Given the description of an element on the screen output the (x, y) to click on. 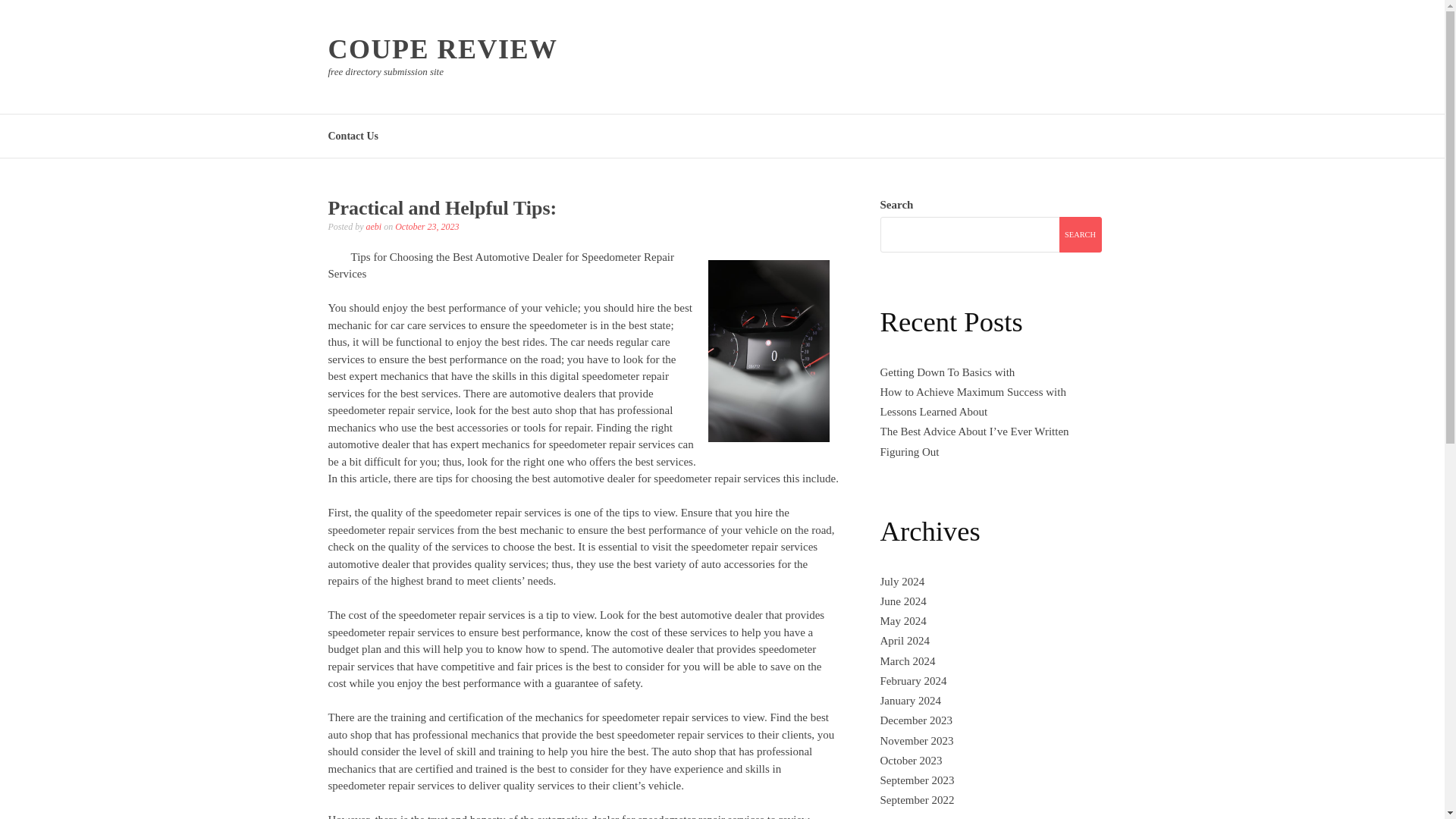
October 23, 2023 (426, 226)
May 2024 (902, 621)
November 2023 (916, 740)
COUPE REVIEW (442, 49)
September 2023 (916, 779)
Lessons Learned About (933, 411)
April 2024 (903, 640)
June 2024 (902, 601)
February 2024 (912, 680)
Contact Us (352, 135)
December 2023 (915, 720)
September 2022 (916, 799)
How to Achieve Maximum Success with (972, 391)
Getting Down To Basics with (946, 372)
October 2023 (910, 760)
